Given the description of an element on the screen output the (x, y) to click on. 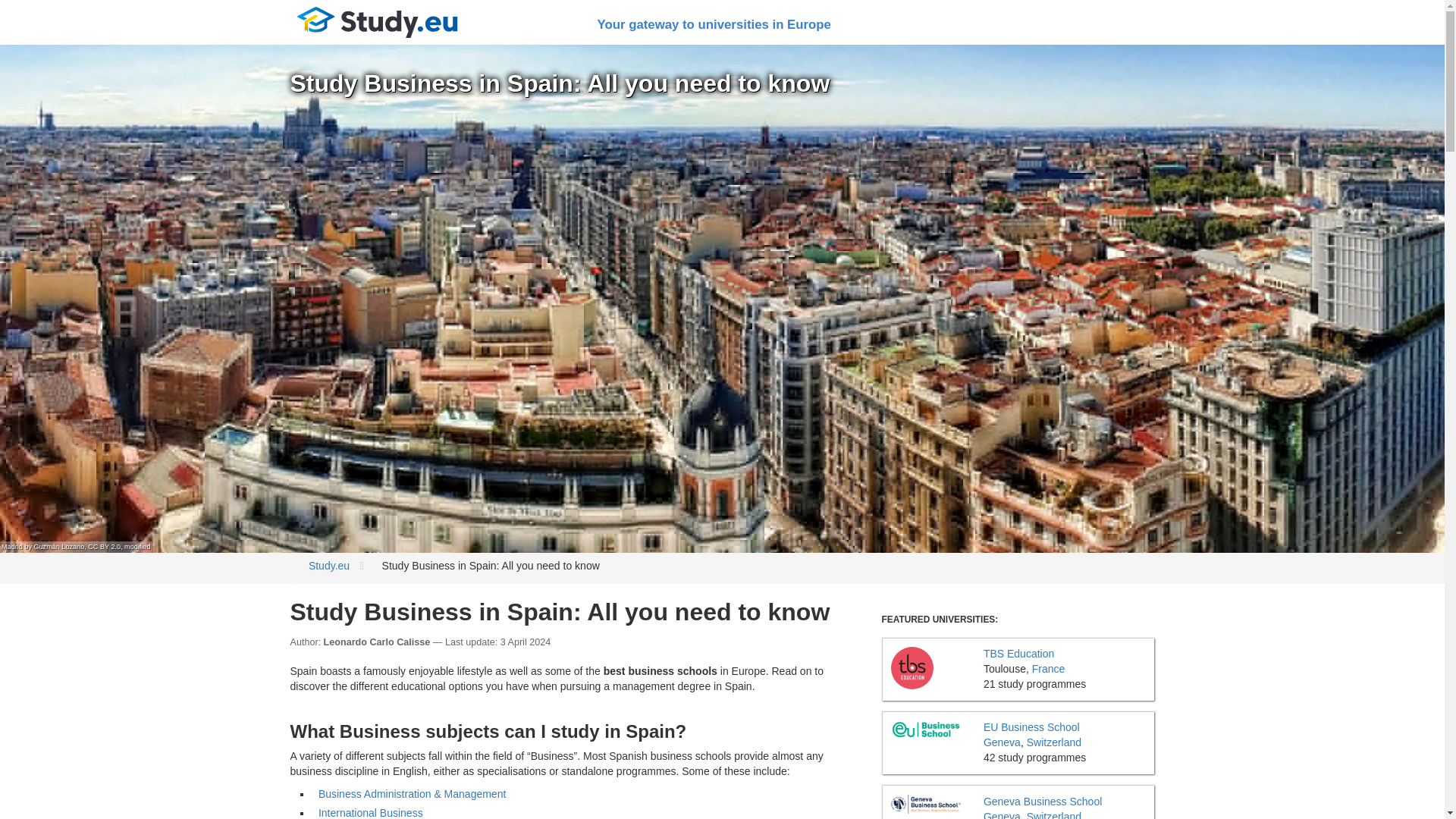
CC BY 2.0 (103, 546)
Study.eu (376, 22)
EU Business School (925, 729)
Geneva Business School (925, 804)
Madrid (12, 546)
Madrid (12, 546)
TBS Education (912, 668)
International Business (370, 812)
Study.eu (328, 565)
